Given the description of an element on the screen output the (x, y) to click on. 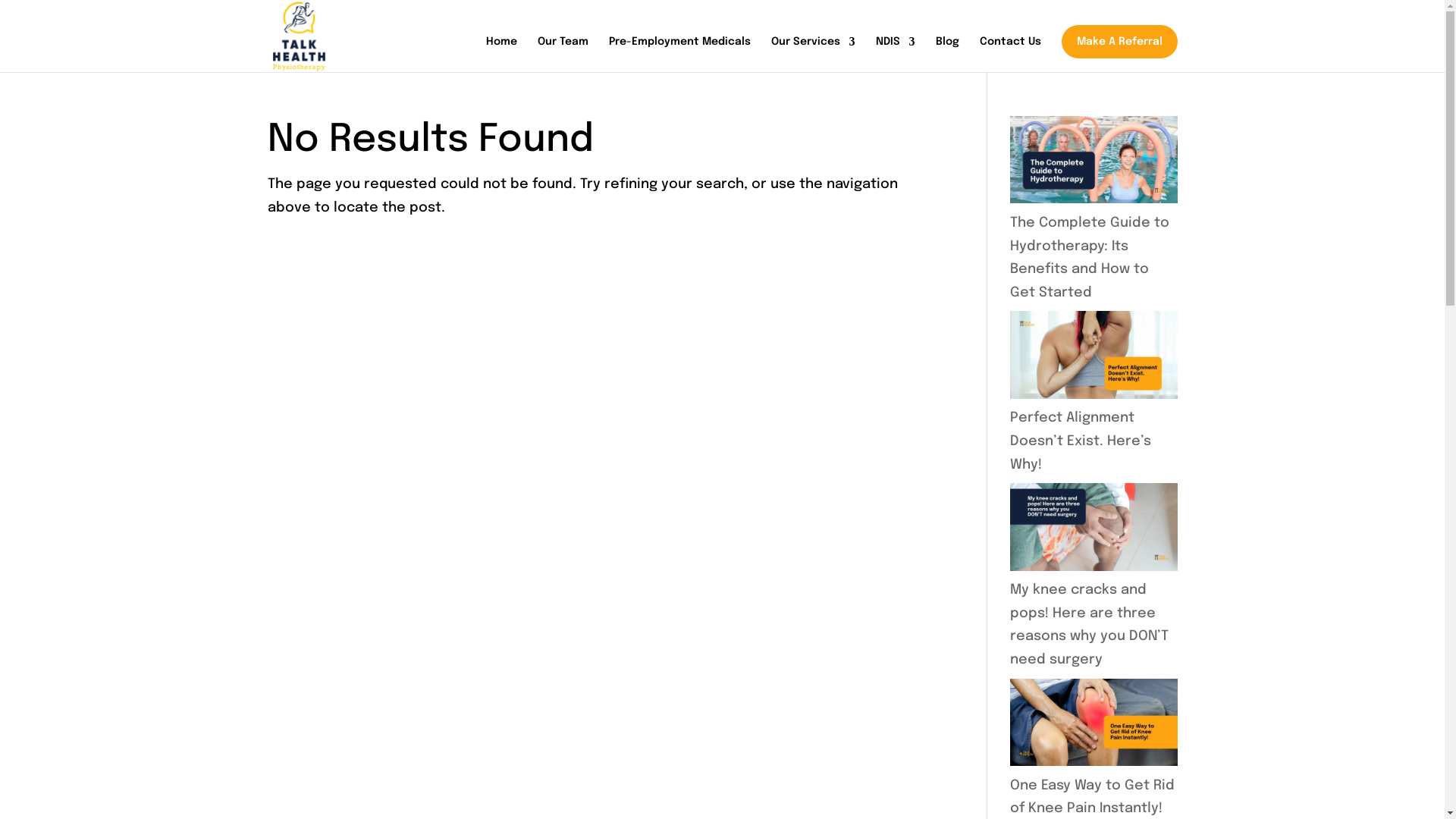
Contact Us Element type: text (1010, 54)
NDIS Element type: text (894, 54)
Our Services Element type: text (812, 54)
Make A Referral Element type: text (1119, 41)
Pre-Employment Medicals Element type: text (678, 54)
Our Team Element type: text (561, 54)
One Easy Way to Get Rid of Knee Pain Instantly! Element type: text (1092, 796)
Blog Element type: text (947, 54)
Home Element type: text (500, 54)
